Given the description of an element on the screen output the (x, y) to click on. 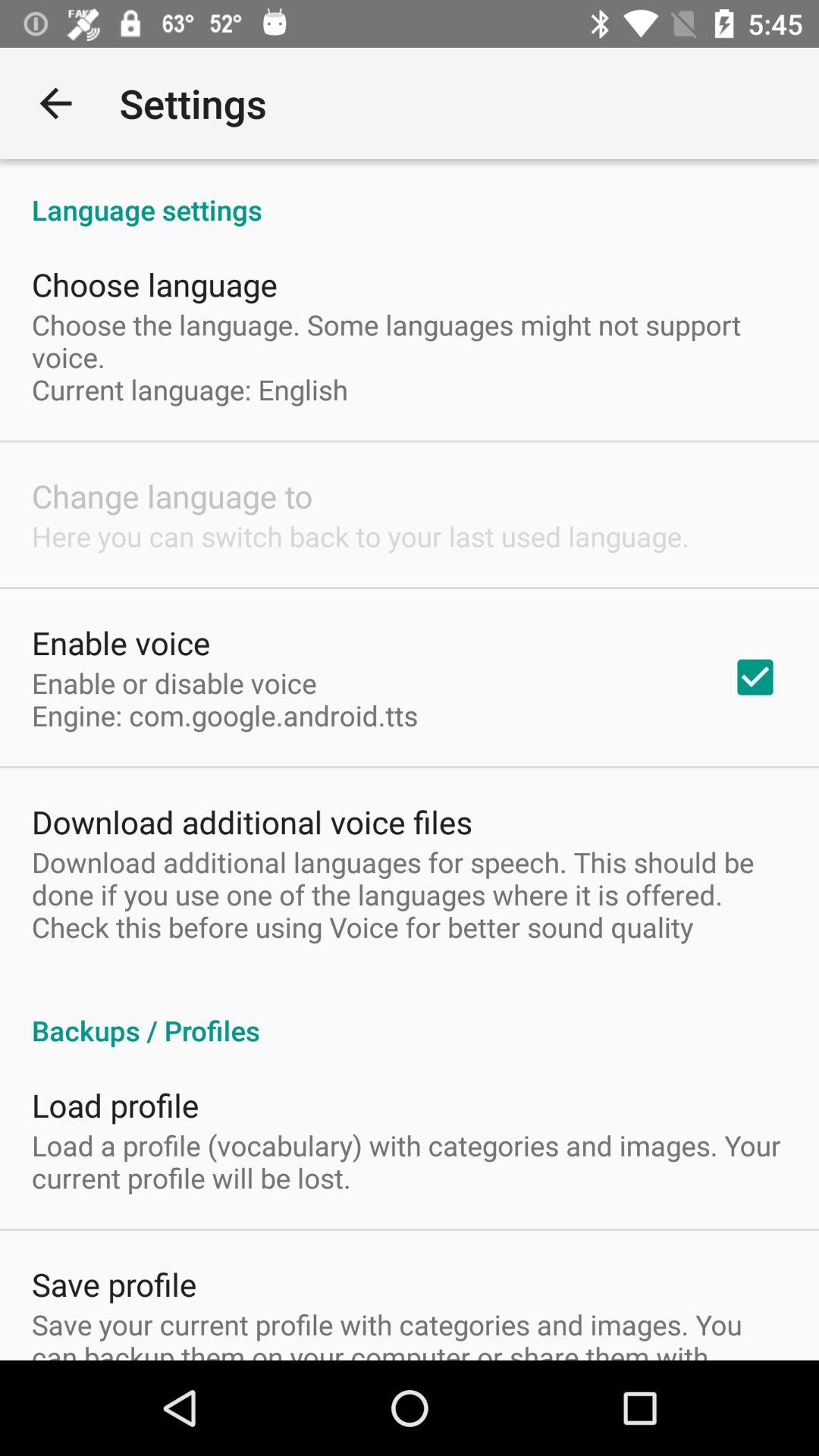
turn on item above download additional voice icon (224, 699)
